Given the description of an element on the screen output the (x, y) to click on. 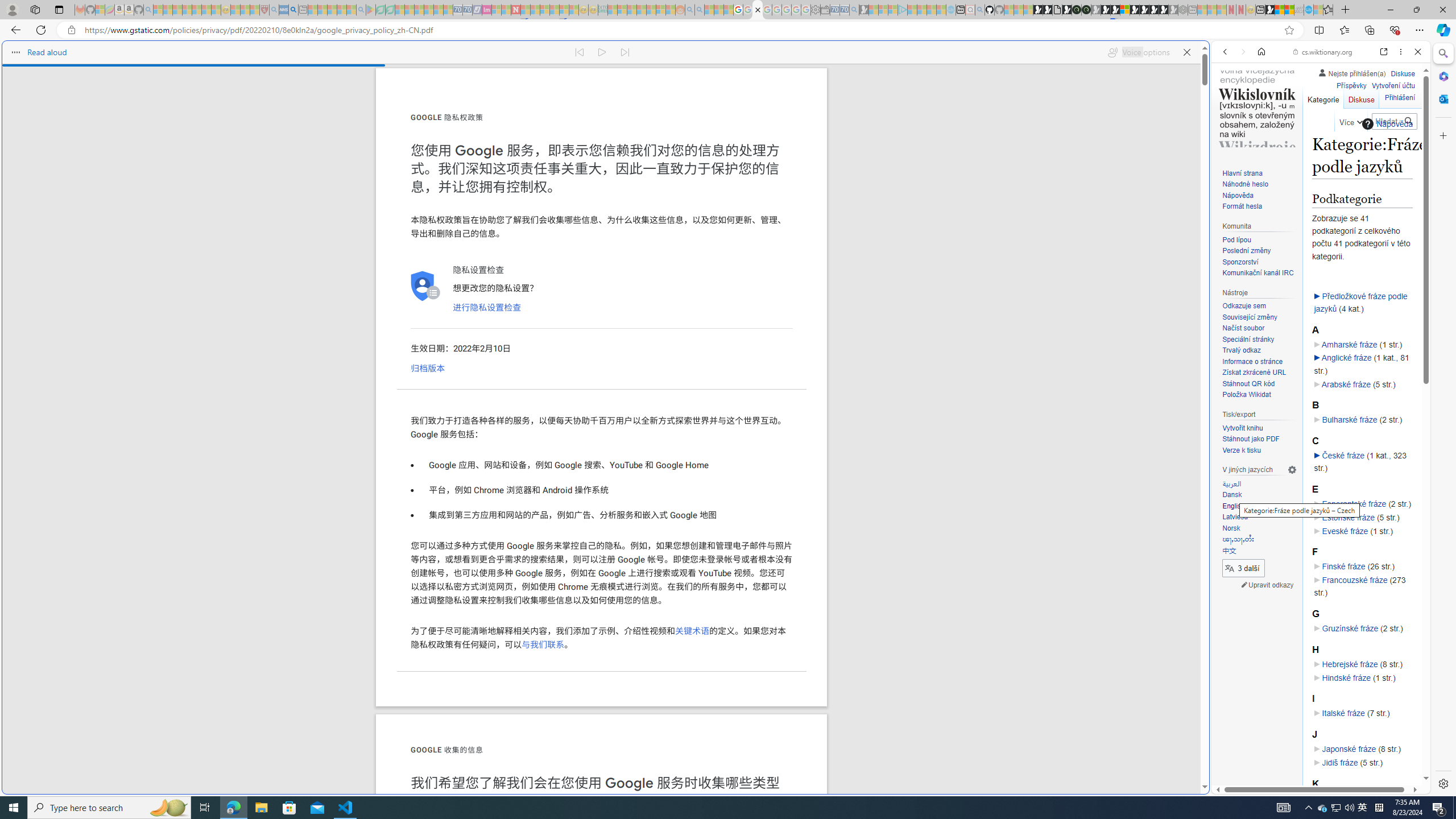
SEARCH TOOLS (1350, 130)
14 Common Myths Debunked By Scientific Facts - Sleeping (534, 9)
World - MSN (1279, 9)
Wallet - Sleeping (824, 9)
google_privacy_policy_zh-CN.pdf (757, 9)
This site scope (1259, 102)
